Given the description of an element on the screen output the (x, y) to click on. 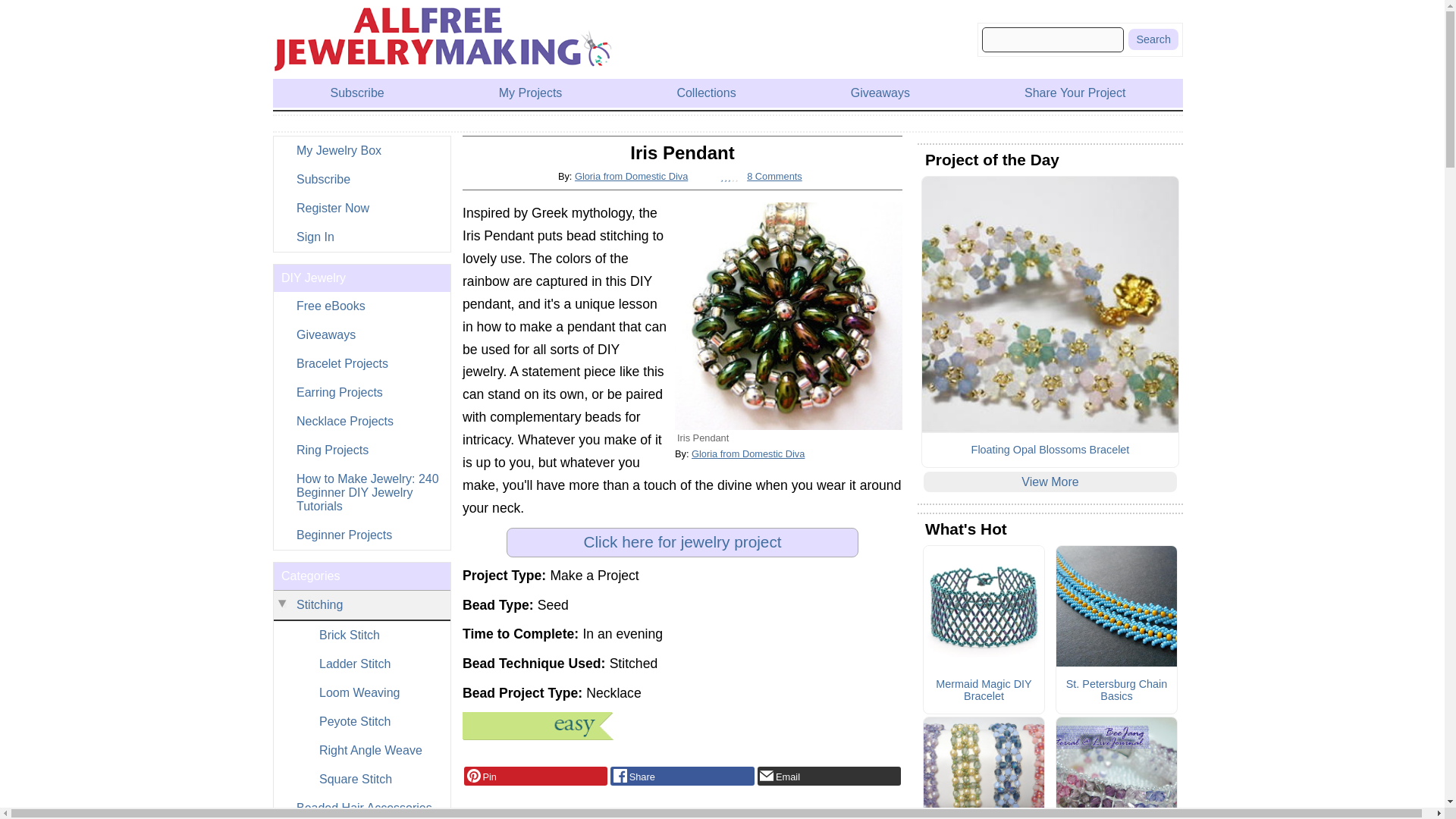
Facebook (682, 776)
Iris Pendant (788, 315)
Register Now (361, 208)
Subscribe (361, 179)
My Jewelry Box (361, 150)
Search (1152, 38)
Email (829, 776)
Sign In (361, 236)
